Given the description of an element on the screen output the (x, y) to click on. 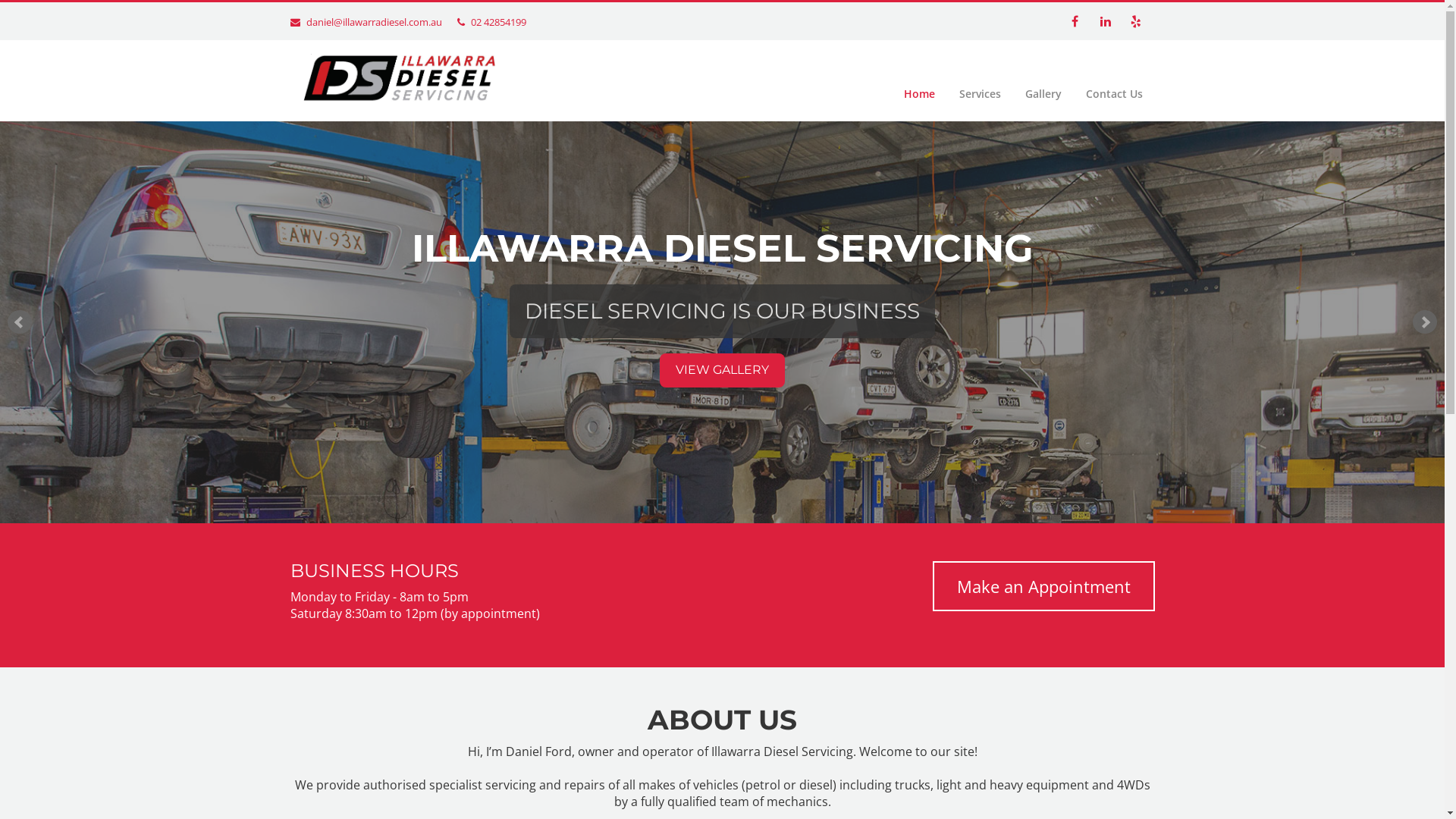
Services Element type: text (979, 93)
Next Element type: text (1424, 322)
daniel@illawarradiesel.com.au Element type: text (374, 21)
Contact Us Element type: text (1113, 93)
02 42854199 Element type: text (497, 21)
Prev Element type: text (19, 322)
Gallery Element type: text (1043, 93)
Make an Appointment Element type: text (1043, 586)
Home Element type: text (919, 93)
